Given the description of an element on the screen output the (x, y) to click on. 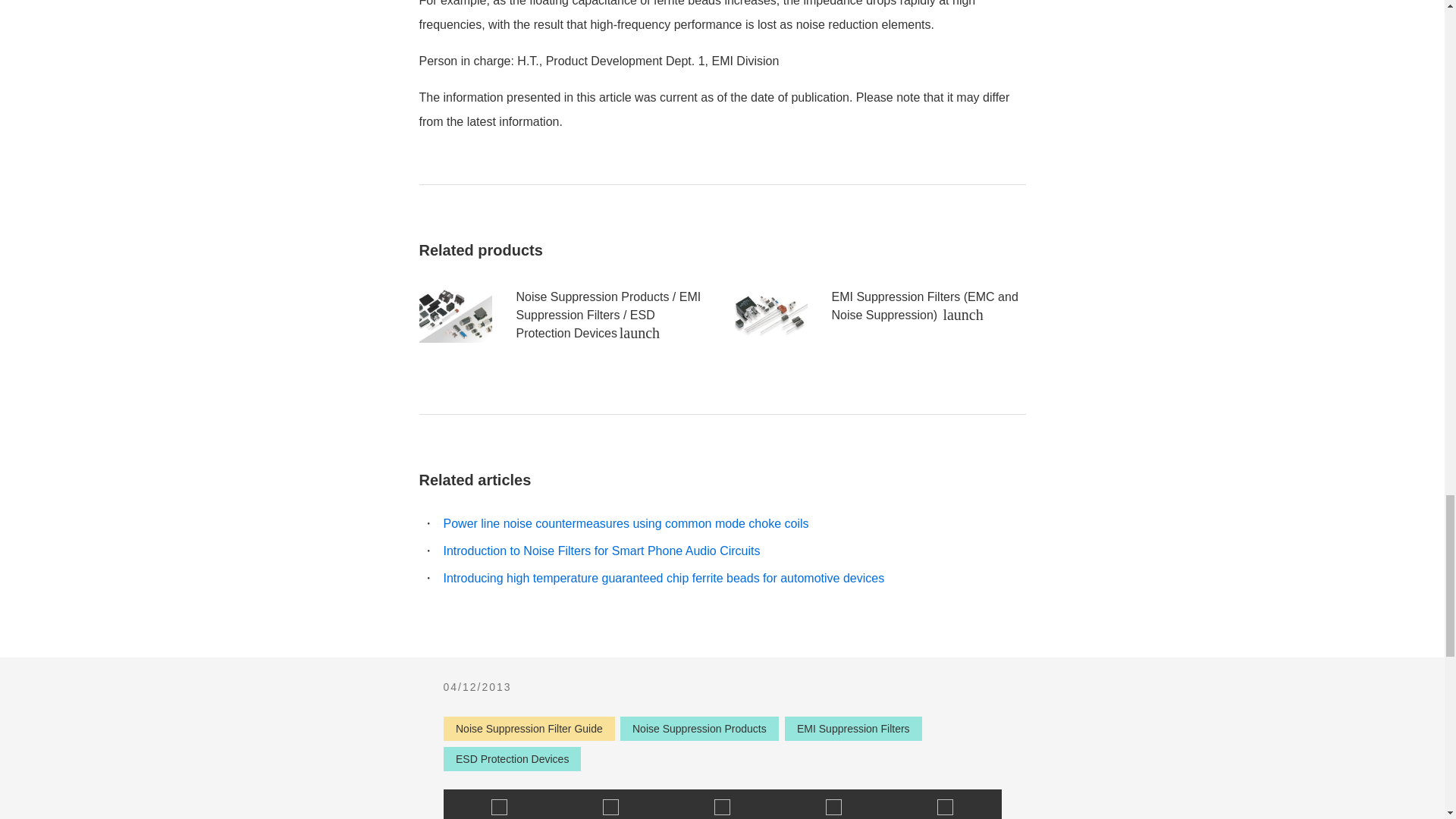
Introduction to Noise Filters for Smart Phone Audio Circuits (601, 550)
Noise Suppression Filter Guide (528, 727)
